Given the description of an element on the screen output the (x, y) to click on. 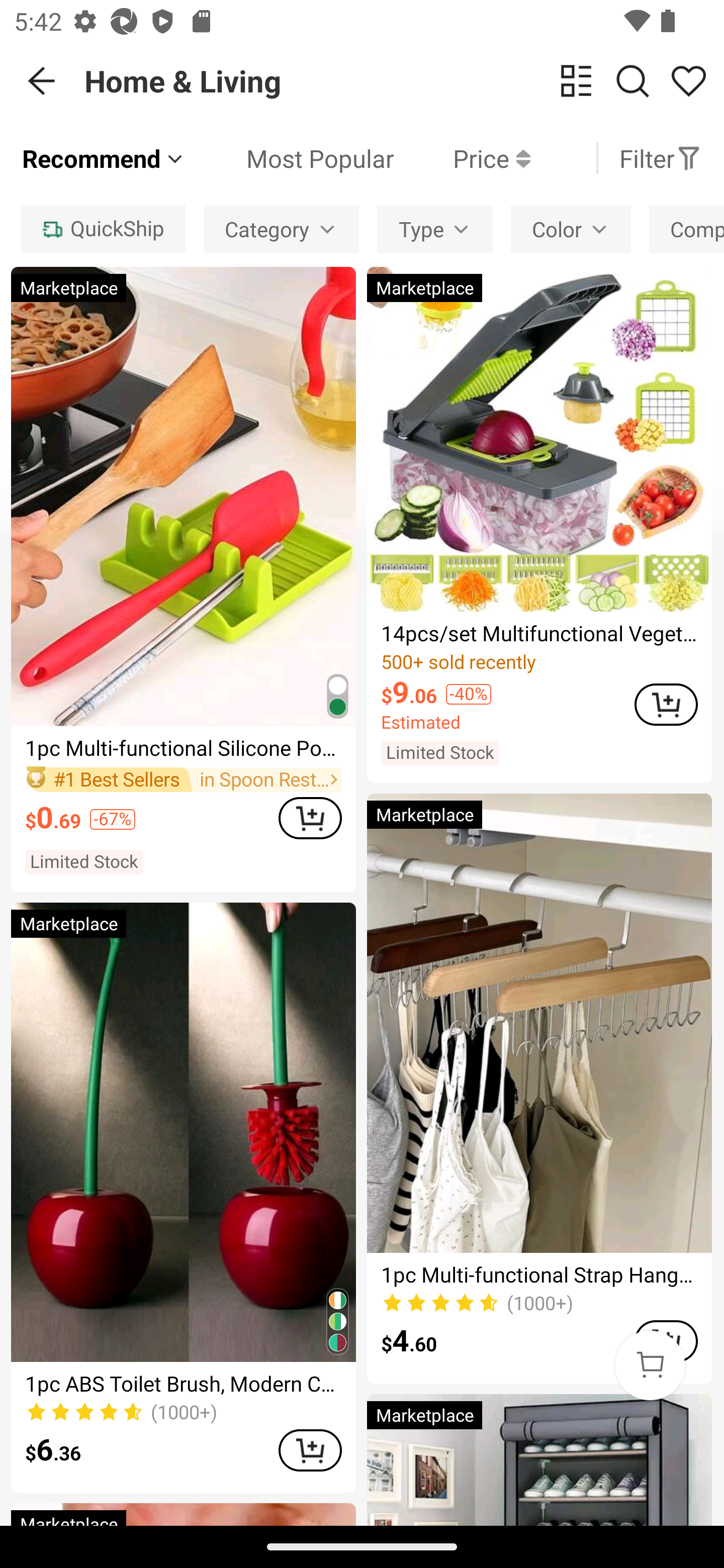
Home & Living change view Search Share (404, 80)
change view (576, 81)
Search (632, 81)
Share (688, 81)
Recommend (103, 158)
Most Popular (289, 158)
Price (461, 158)
Filter (660, 158)
QuickShip (102, 228)
Category (281, 228)
Type (435, 228)
Color (571, 228)
Composition (686, 228)
ADD TO CART (665, 704)
#1 Best Sellers in Spoon Rests & Pot Clips (183, 779)
ADD TO CART (309, 817)
ADD TO CART (309, 1450)
